Given the description of an element on the screen output the (x, y) to click on. 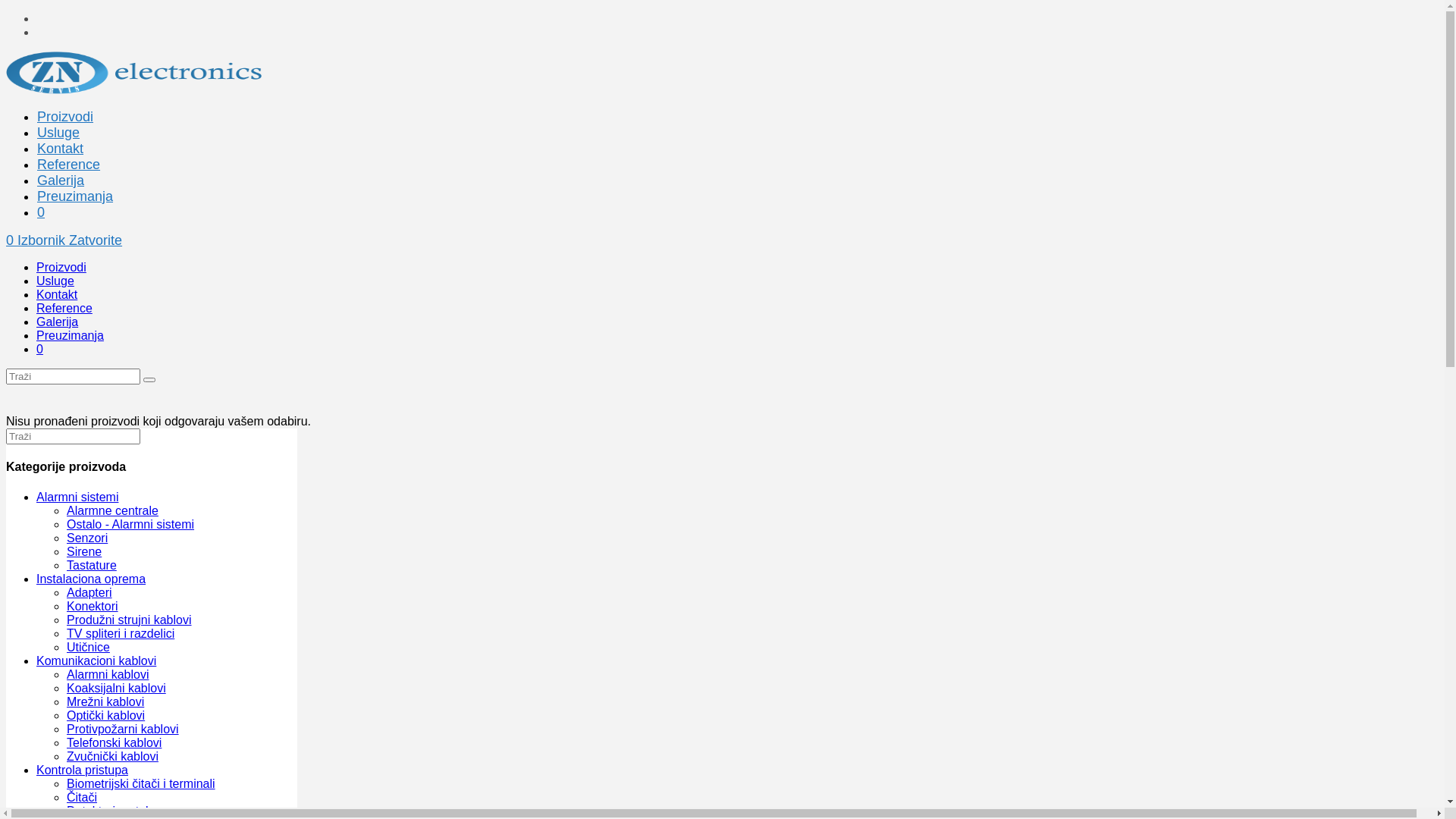
Komunikacioni kablovi Element type: text (96, 660)
Ostalo - Alarmni sistemi Element type: text (130, 523)
Usluge Element type: text (55, 280)
Alarmni kablovi Element type: text (107, 674)
Kontakt Element type: text (60, 148)
0 Element type: text (11, 239)
Instalaciona oprema Element type: text (90, 578)
Proizvodi Element type: text (65, 116)
Izbornik Zatvorite Element type: text (69, 239)
Preuzimanja Element type: text (74, 195)
Usluge Element type: text (58, 132)
0 Element type: text (40, 211)
Kontrola pristupa Element type: text (82, 769)
Reference Element type: text (68, 164)
Adapteri Element type: text (89, 592)
TV spliteri i razdelici Element type: text (120, 633)
Alarmne centrale Element type: text (112, 510)
Preuzimanja Element type: text (69, 335)
Reference Element type: text (64, 307)
Sirene Element type: text (83, 551)
Proizvodi Element type: text (61, 266)
Telefonski kablovi Element type: text (113, 742)
Koaksijalni kablovi Element type: text (116, 687)
Senzori Element type: text (86, 537)
0 Element type: text (39, 348)
Galerija Element type: text (57, 321)
Konektori Element type: text (92, 605)
Tastature Element type: text (91, 564)
Detektori metala Element type: text (110, 810)
Alarmni sistemi Element type: text (77, 496)
Galerija Element type: text (60, 180)
Kontakt Element type: text (56, 294)
